Given the description of an element on the screen output the (x, y) to click on. 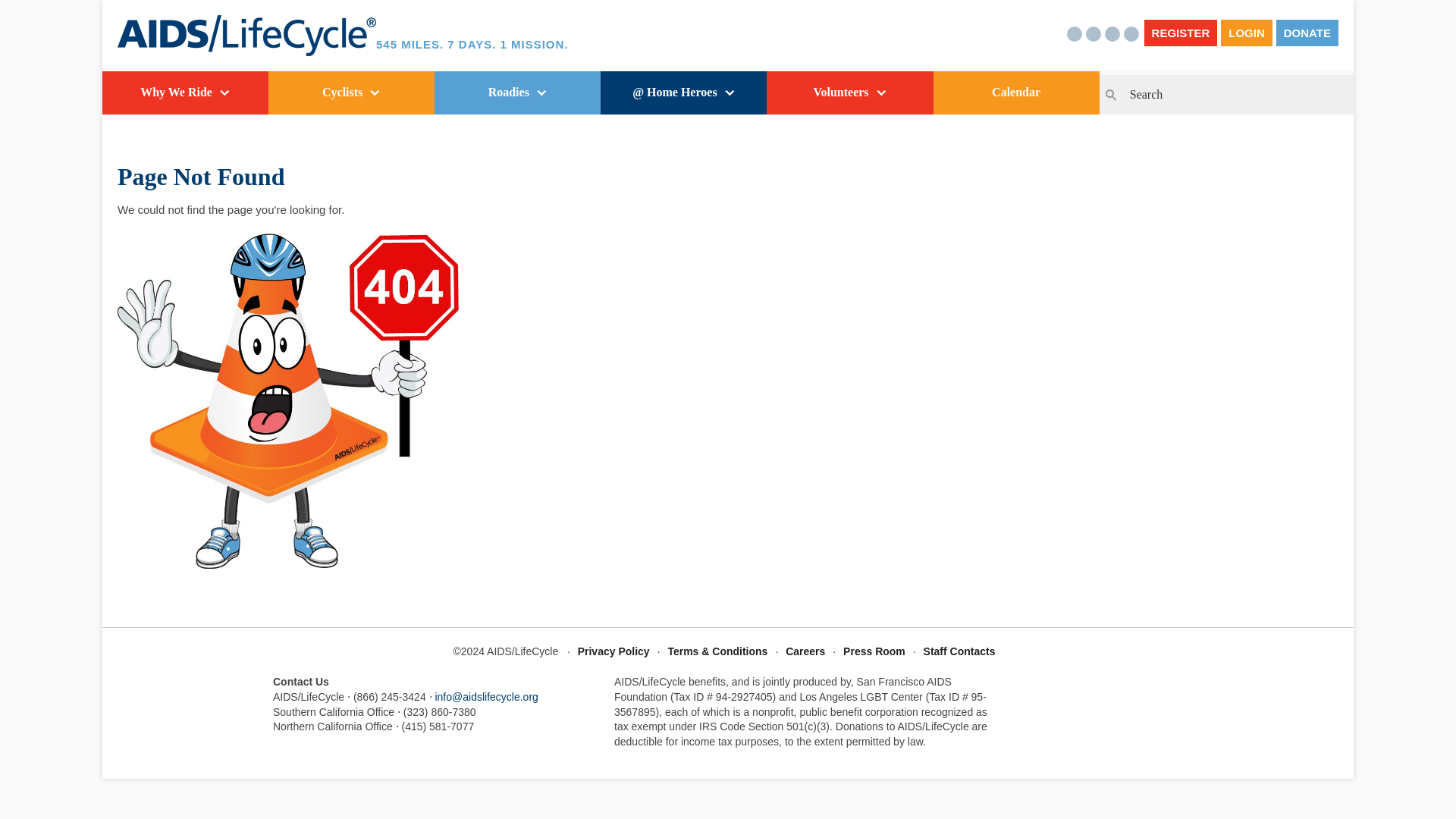
Cyclists (350, 92)
REGISTER (1180, 32)
Why We Ride (184, 92)
DONATE (1307, 32)
LOGIN (1246, 32)
Roadies (516, 92)
